Given the description of an element on the screen output the (x, y) to click on. 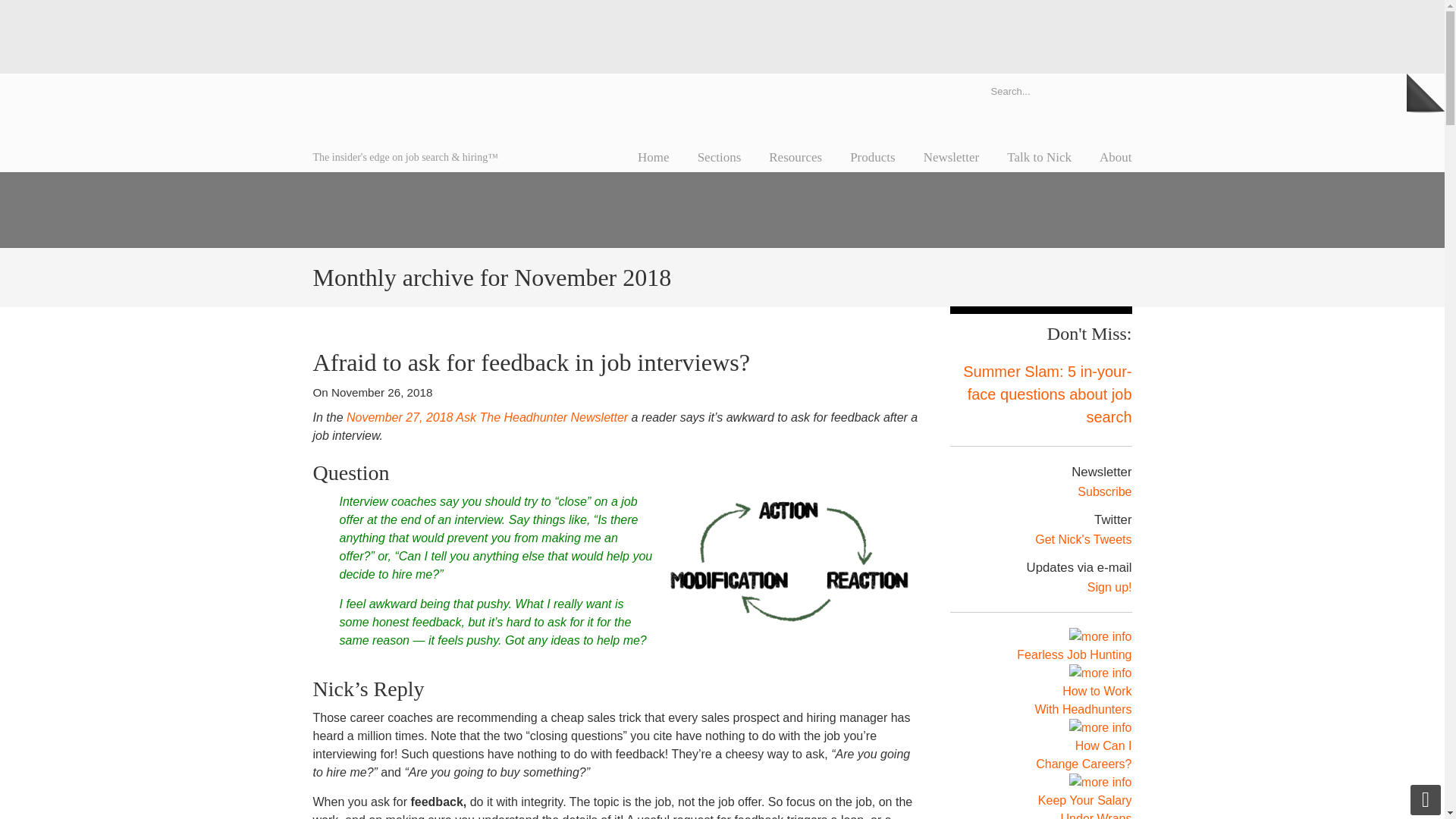
November 27, 2018 Ask The Headhunter Newsletter (486, 417)
Newsletter (951, 157)
Talk to Nick (1038, 157)
Sections (719, 157)
Afraid to ask for feedback in job interviews? (531, 361)
Home (653, 157)
Afraid to ask for feedback in job interviews? (531, 361)
search (1115, 90)
Ask The Headhunter Newsletter (486, 417)
search (1115, 90)
Products (872, 157)
About (1115, 157)
Resources (795, 157)
search (1115, 90)
Search... (1039, 90)
